Given the description of an element on the screen output the (x, y) to click on. 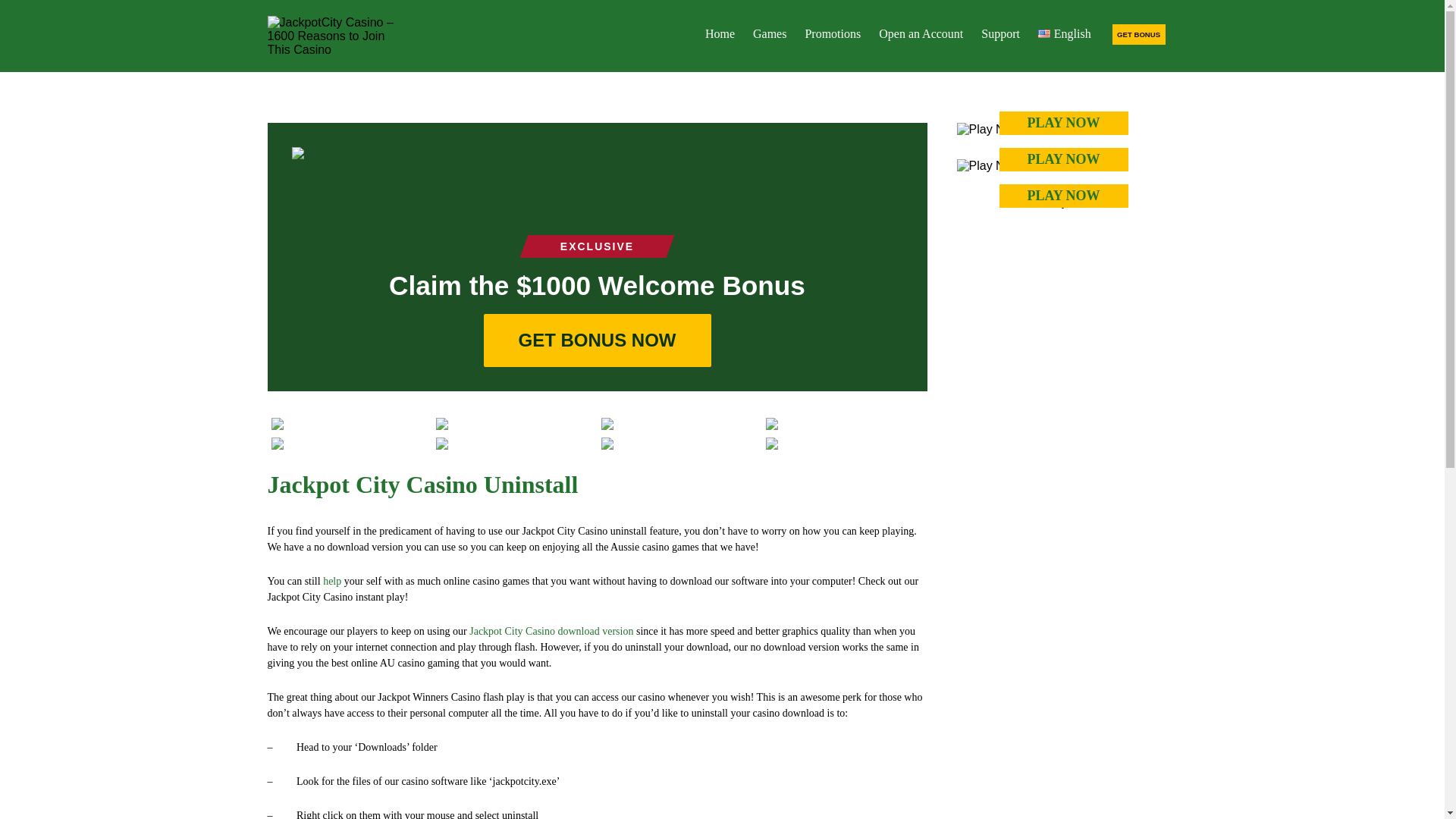
English (1064, 33)
Promotions (831, 33)
Open an Account (920, 33)
Home (719, 33)
Games (769, 33)
Support (1000, 33)
